Given the description of an element on the screen output the (x, y) to click on. 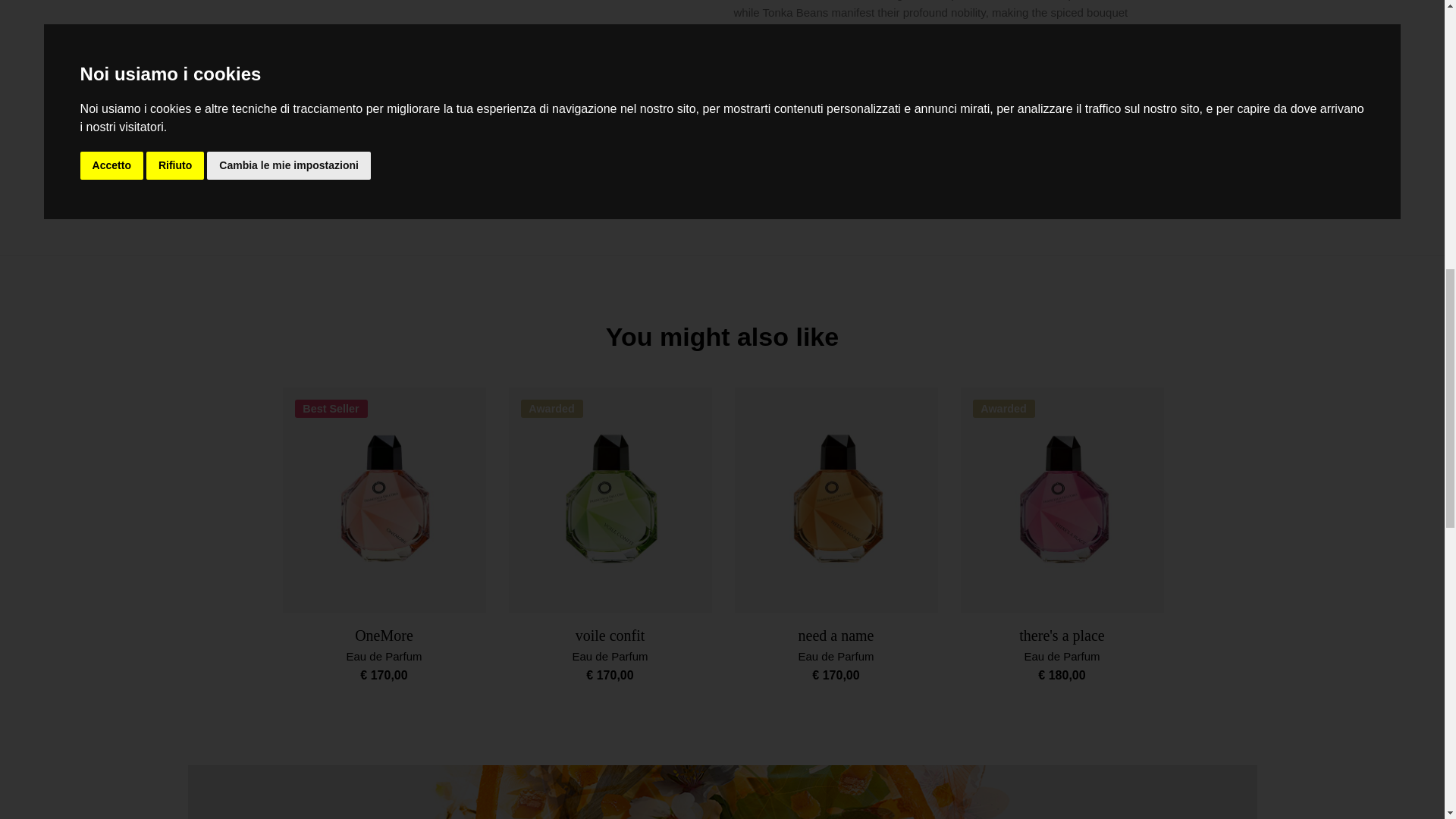
Dedicated to (949, 166)
need a name (836, 635)
Eau de Parfum (835, 656)
Layering (949, 125)
Eau de Parfum (384, 656)
Notes (949, 84)
OneMore (384, 635)
voile confit (610, 635)
Eau de Parfum (609, 656)
